Given the description of an element on the screen output the (x, y) to click on. 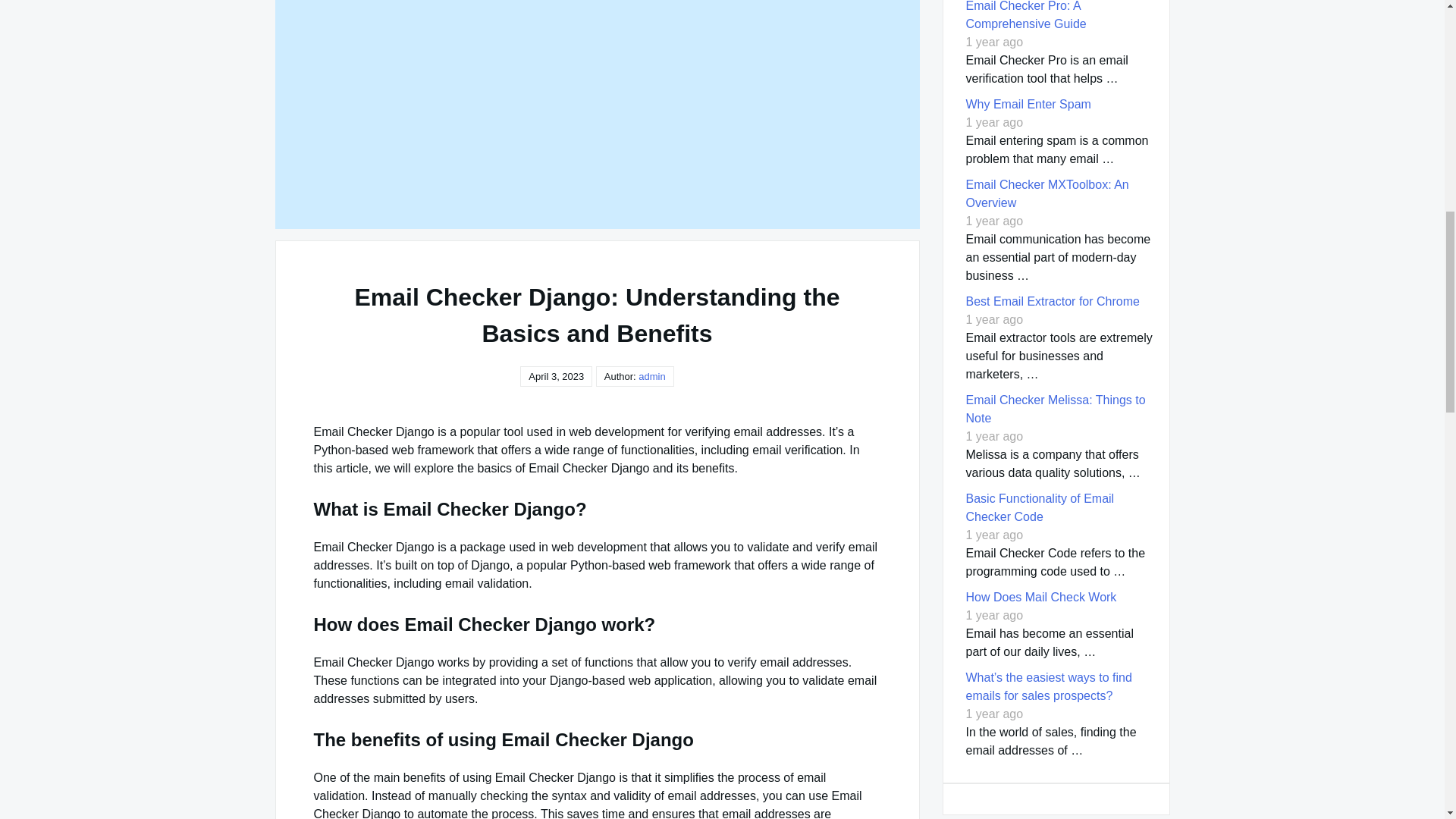
Basic Functionality of Email Checker Code (1040, 507)
Why Email Enter Spam (1028, 103)
Email Checker Pro: A Comprehensive Guide (1026, 15)
How Does Mail Check Work (1041, 596)
Email Checker MXToolbox: An Overview (1047, 193)
Best Email Extractor for Chrome (1053, 300)
Posts by admin (652, 376)
admin (652, 376)
Email Checker Melissa: Things to Note (1055, 409)
